Given the description of an element on the screen output the (x, y) to click on. 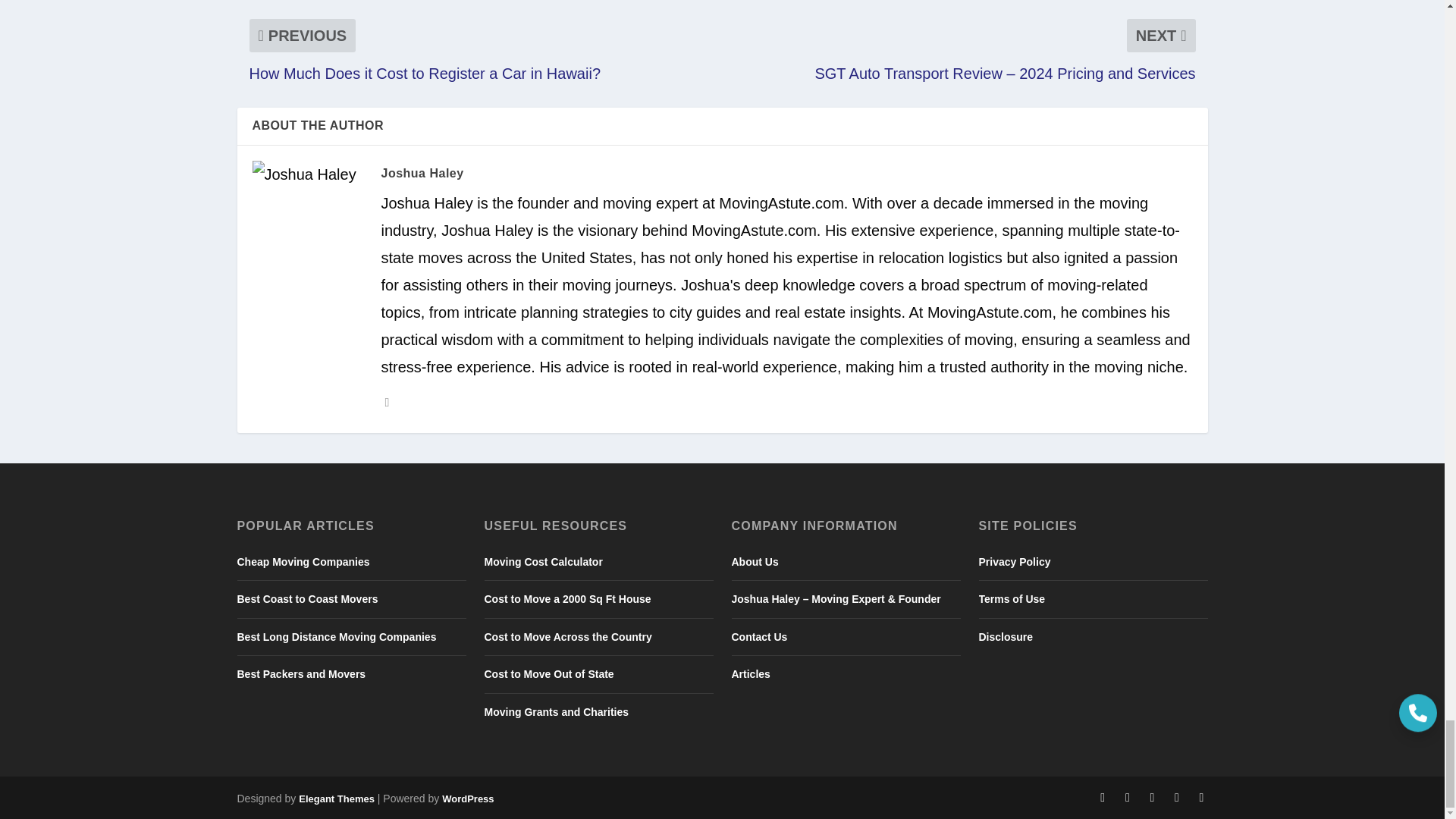
View all posts by Joshua Haley (421, 173)
Premium WordPress Themes (336, 798)
